Given the description of an element on the screen output the (x, y) to click on. 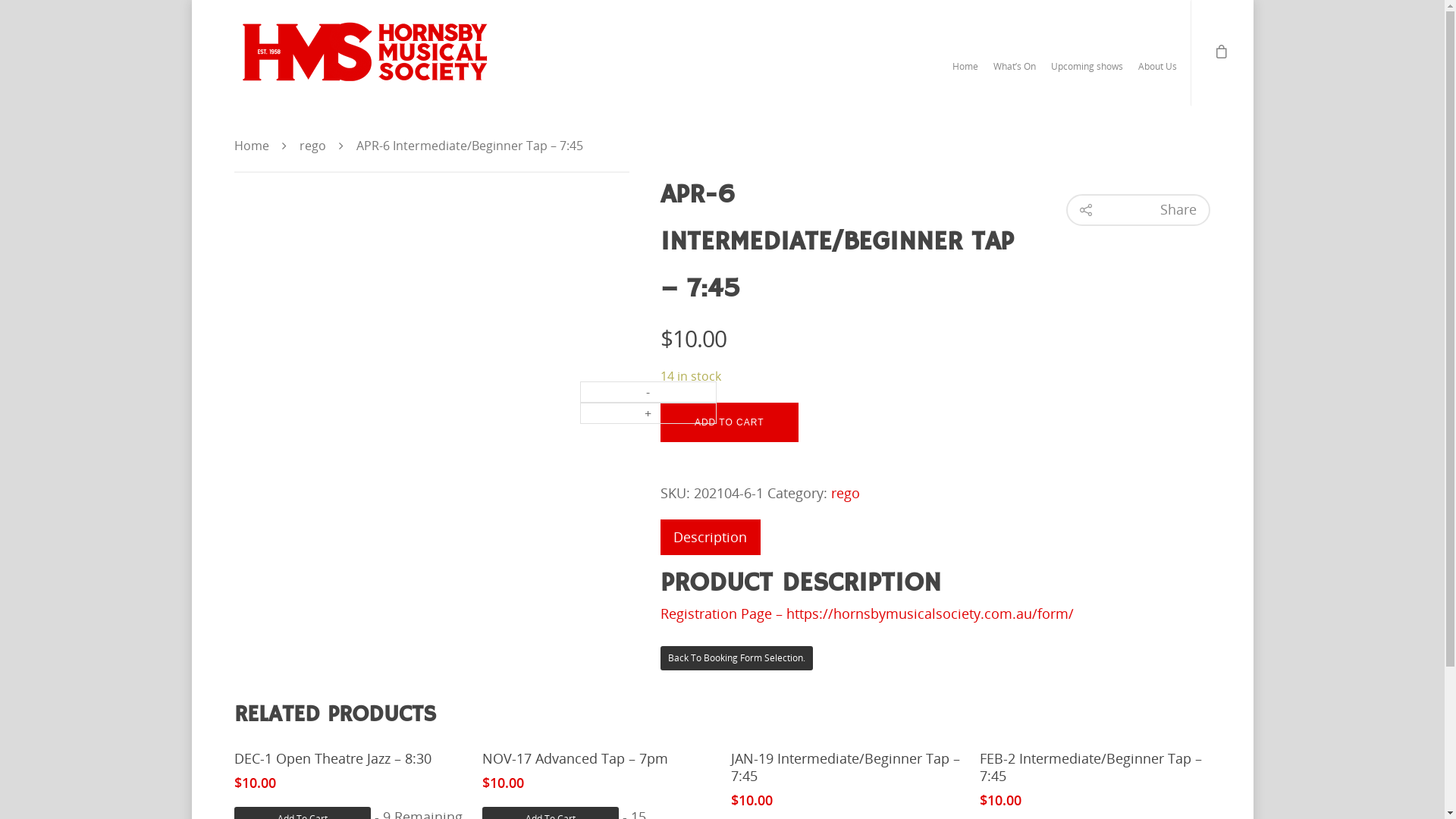
Description Element type: text (709, 537)
Home Element type: text (965, 73)
ADD TO CART Element type: text (729, 422)
rego Element type: text (311, 145)
Home Element type: text (250, 145)
Share Element type: text (1138, 209)
About Us Element type: text (1157, 73)
rego Element type: text (845, 492)
Upcoming shows Element type: text (1087, 73)
Back To Booking Form Selection. Element type: text (736, 658)
